Given the description of an element on the screen output the (x, y) to click on. 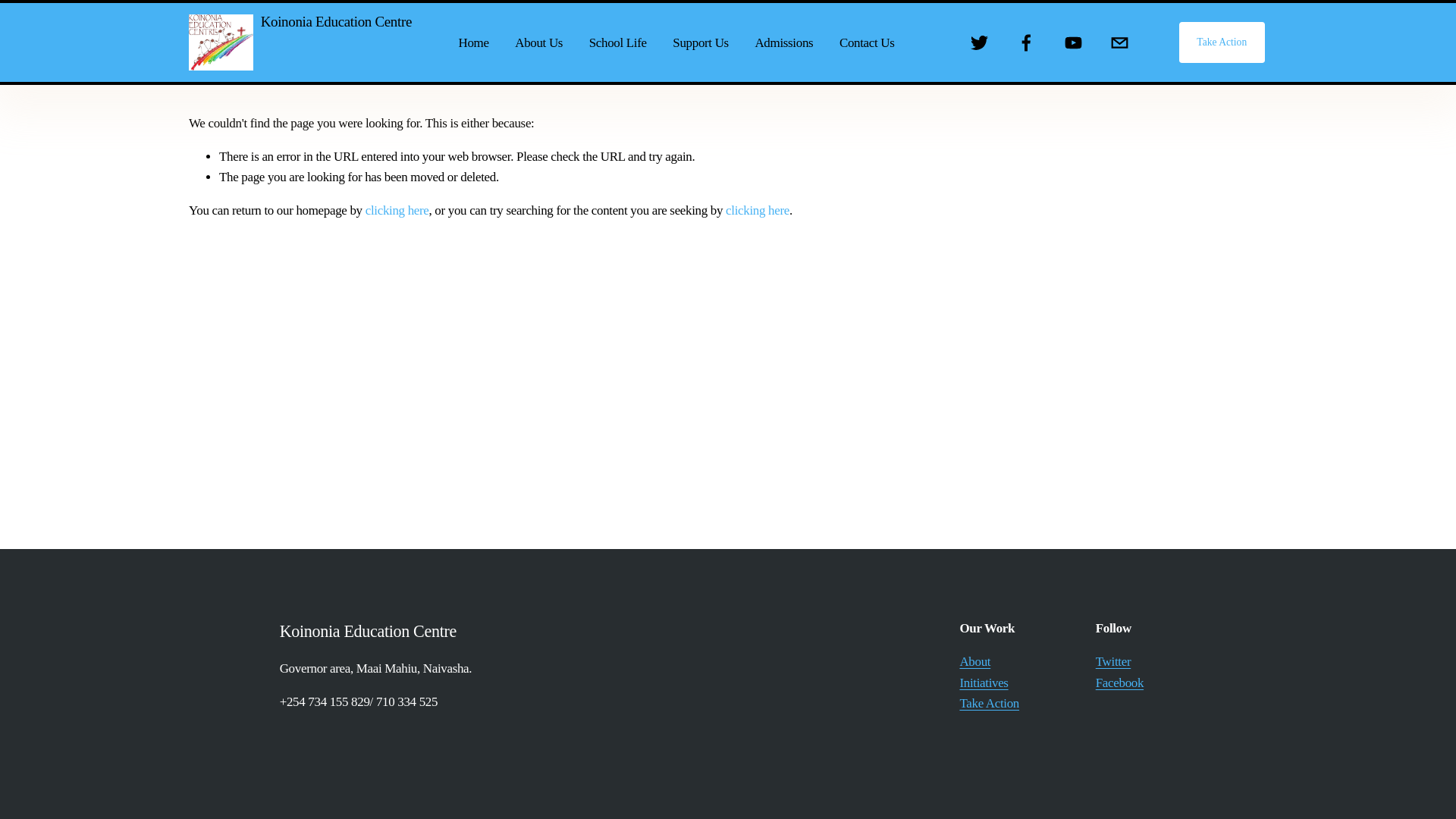
Contact Us (867, 42)
Take Action (1221, 41)
Home (472, 42)
Support Us (700, 42)
About Us (538, 42)
Admissions (783, 42)
School Life (617, 42)
